Given the description of an element on the screen output the (x, y) to click on. 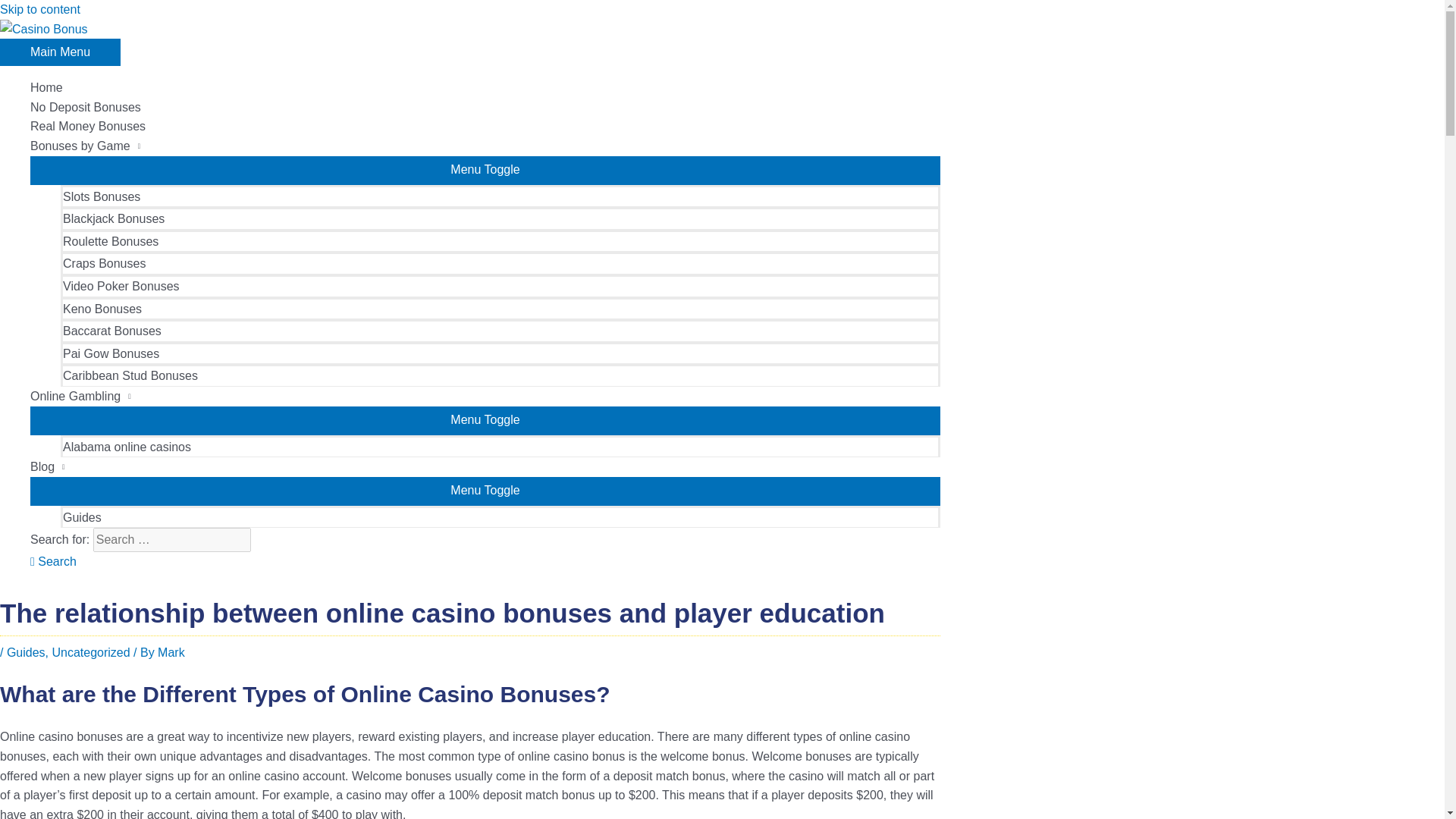
Guides (26, 652)
Pai Gow Bonuses (500, 353)
Slots Bonuses (500, 196)
Video Poker Bonuses (500, 285)
Real Money Bonuses (485, 126)
Blackjack Bonuses (500, 218)
Online Gambling (485, 396)
Mark (170, 652)
Baccarat Bonuses (500, 330)
No Deposit Bonuses (485, 107)
Keno Bonuses (500, 308)
Uncategorized (89, 652)
Menu Toggle (485, 169)
Blog (485, 466)
Main Menu (60, 52)
